Given the description of an element on the screen output the (x, y) to click on. 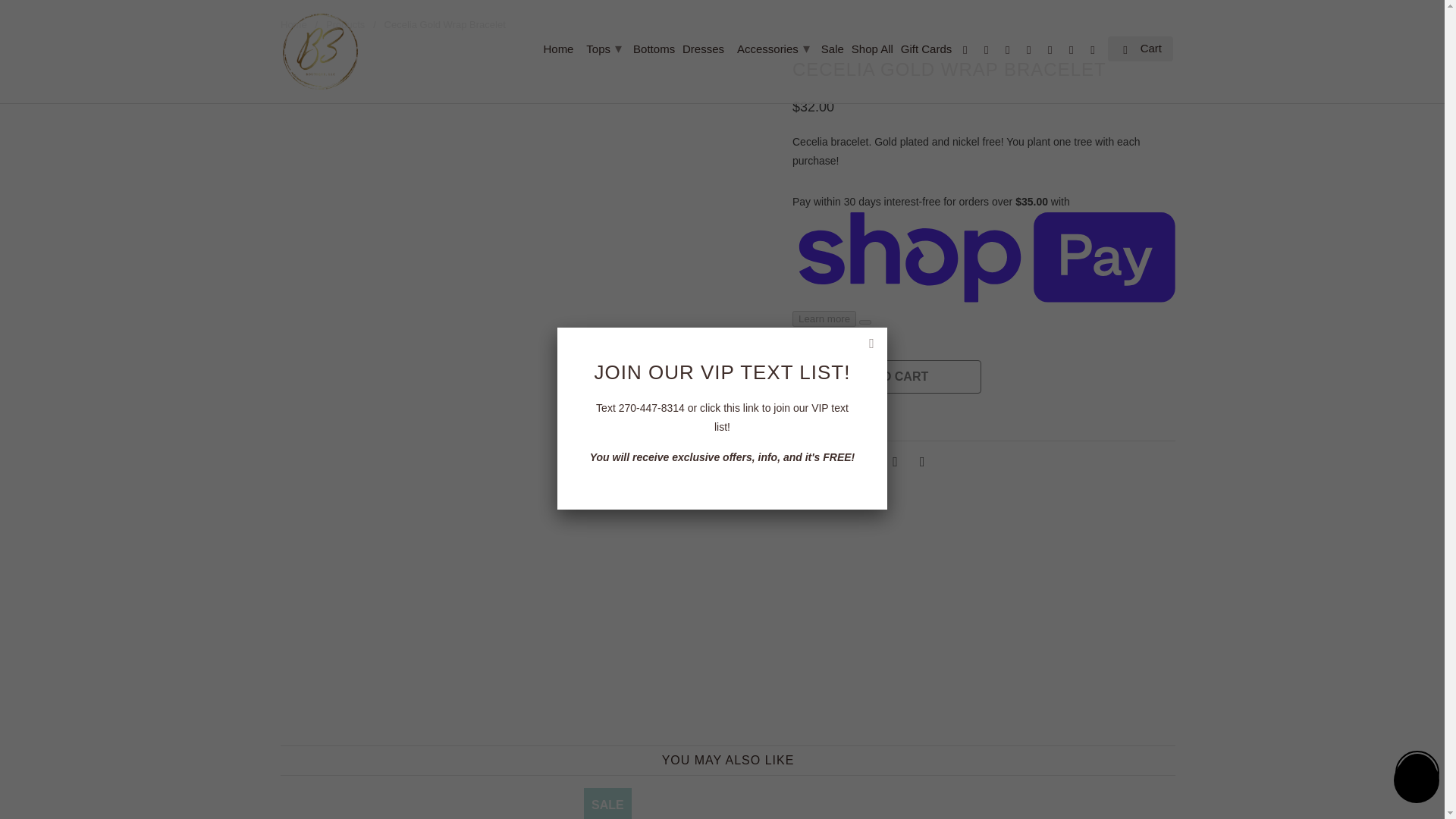
Share this on Twitter (838, 460)
Cecelia Gold Wrap Bracelet - B3 Boutique, LLC (528, 62)
Home (558, 51)
B3 Boutique, LLC (294, 24)
B3 Boutique, LLC (320, 51)
Products (345, 24)
Share this on Facebook (865, 460)
